Given the description of an element on the screen output the (x, y) to click on. 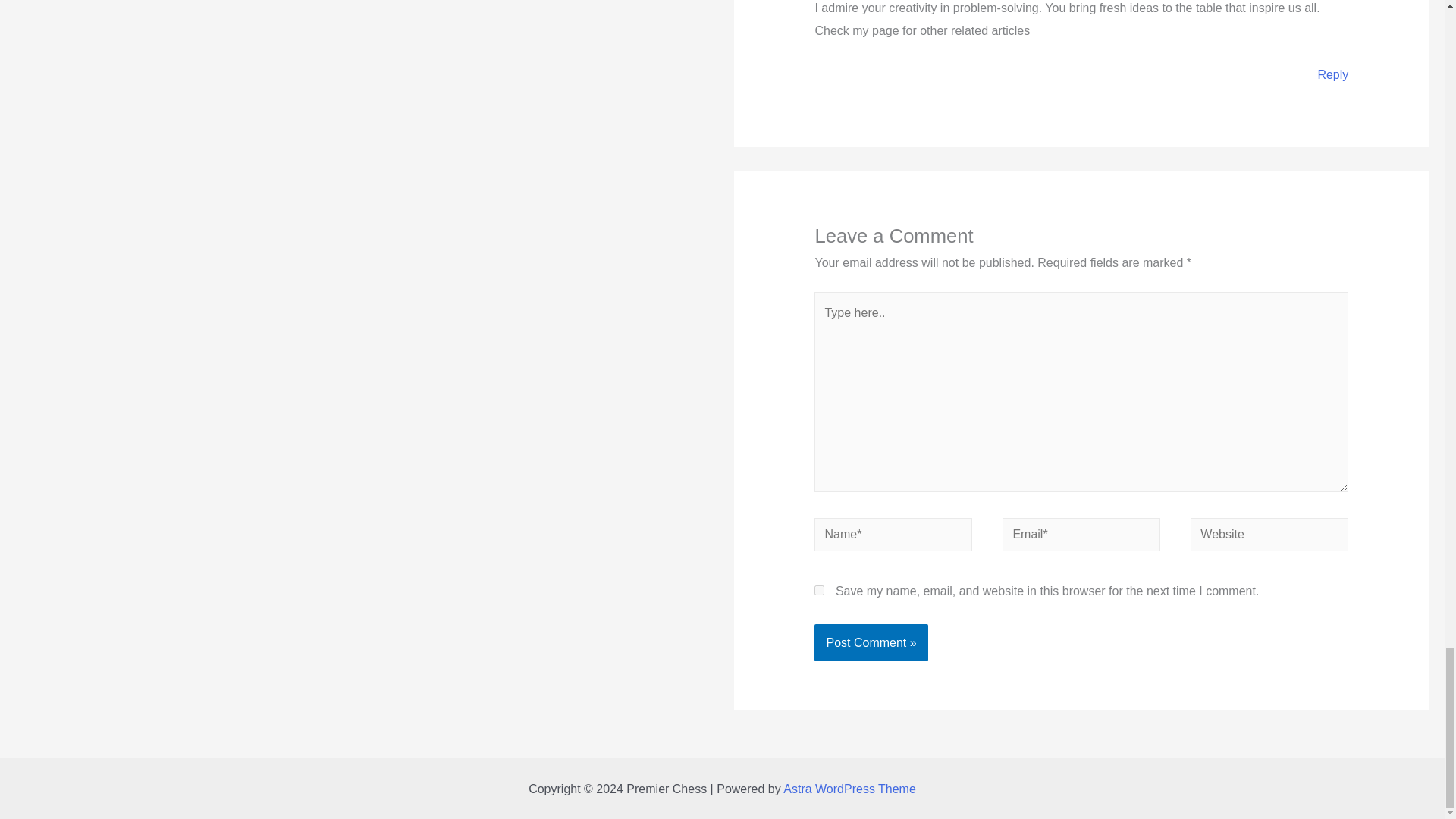
yes (818, 590)
